Given the description of an element on the screen output the (x, y) to click on. 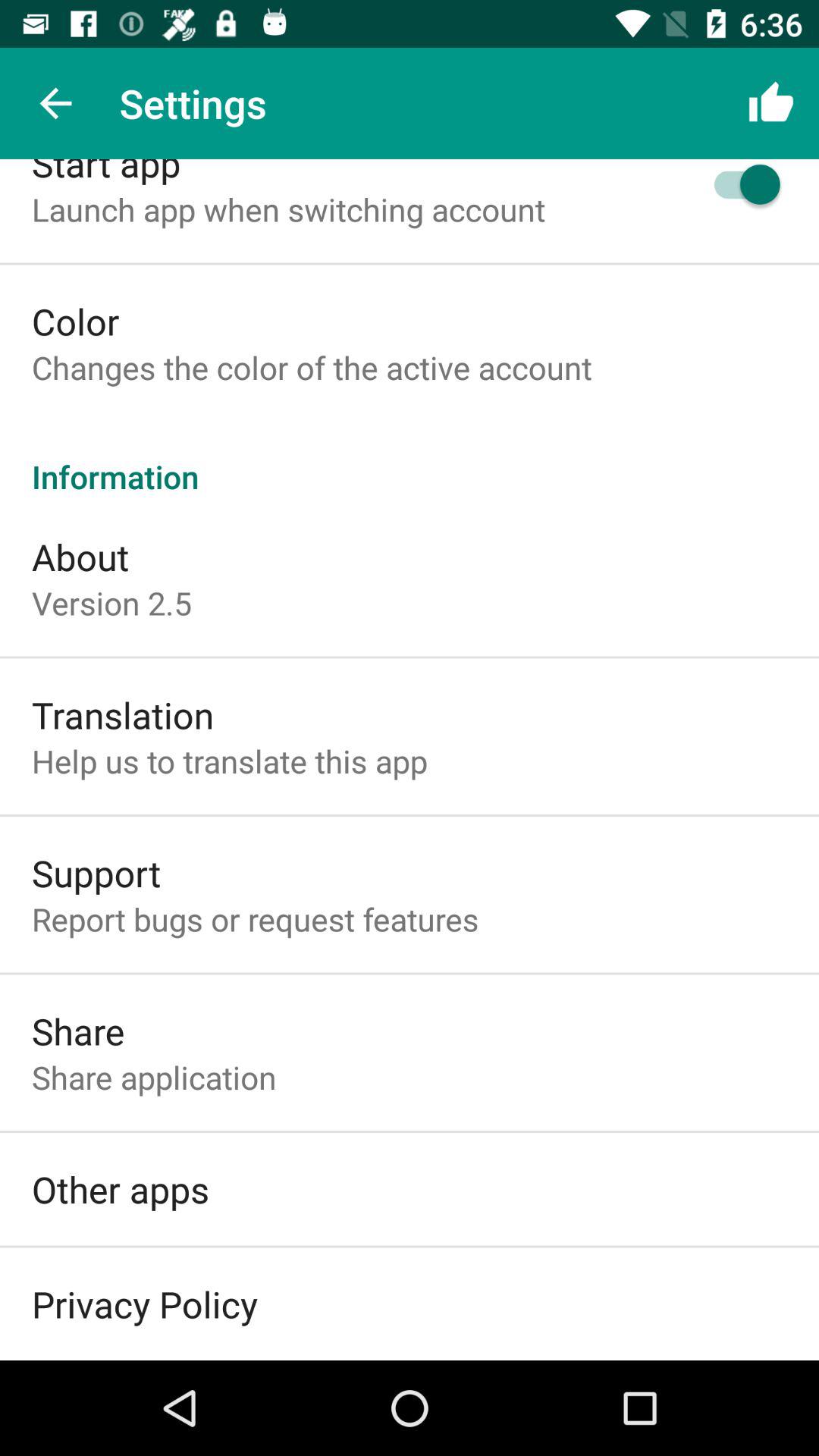
scroll to other apps (120, 1188)
